Given the description of an element on the screen output the (x, y) to click on. 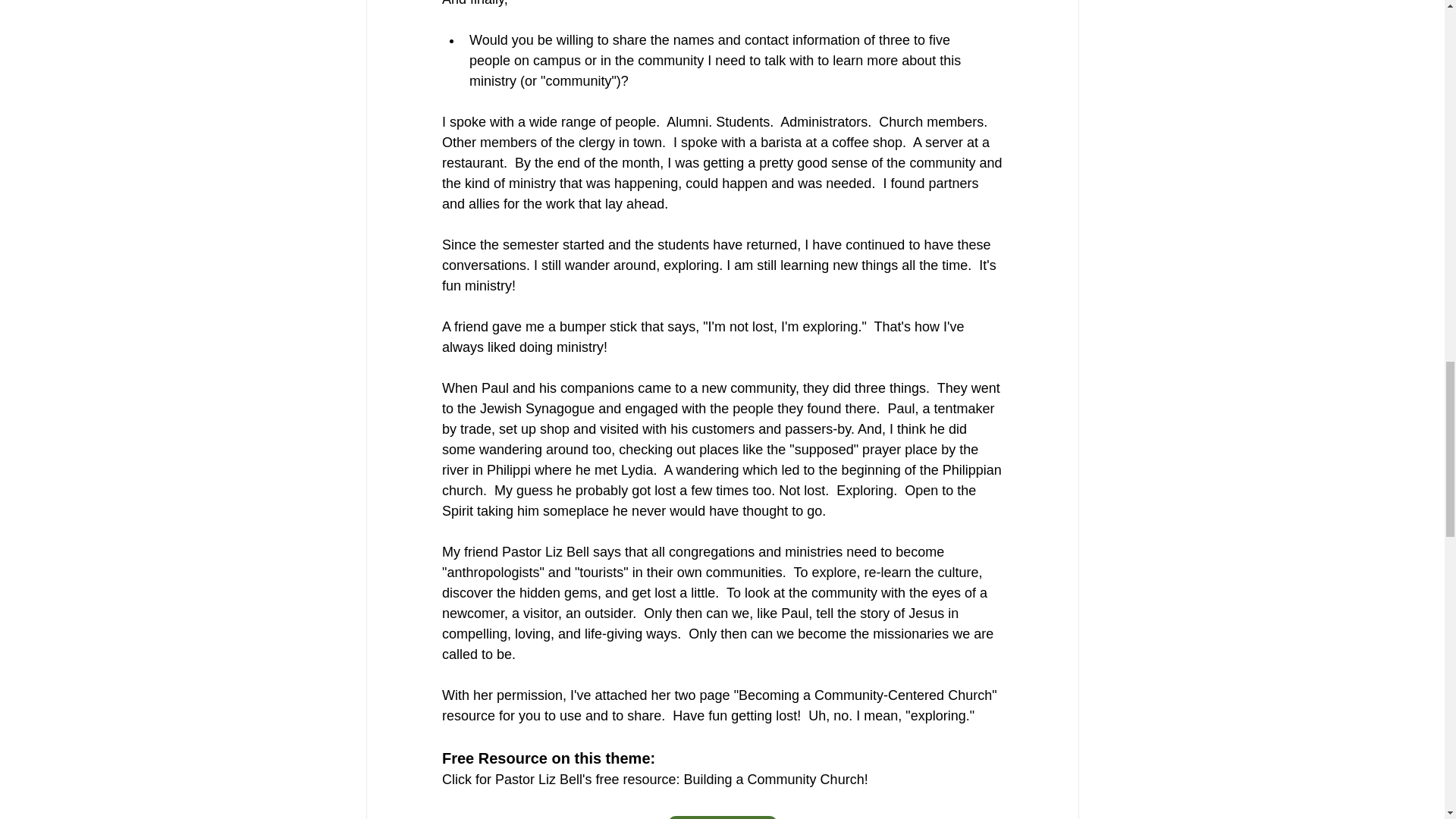
Community Church (722, 817)
